Given the description of an element on the screen output the (x, y) to click on. 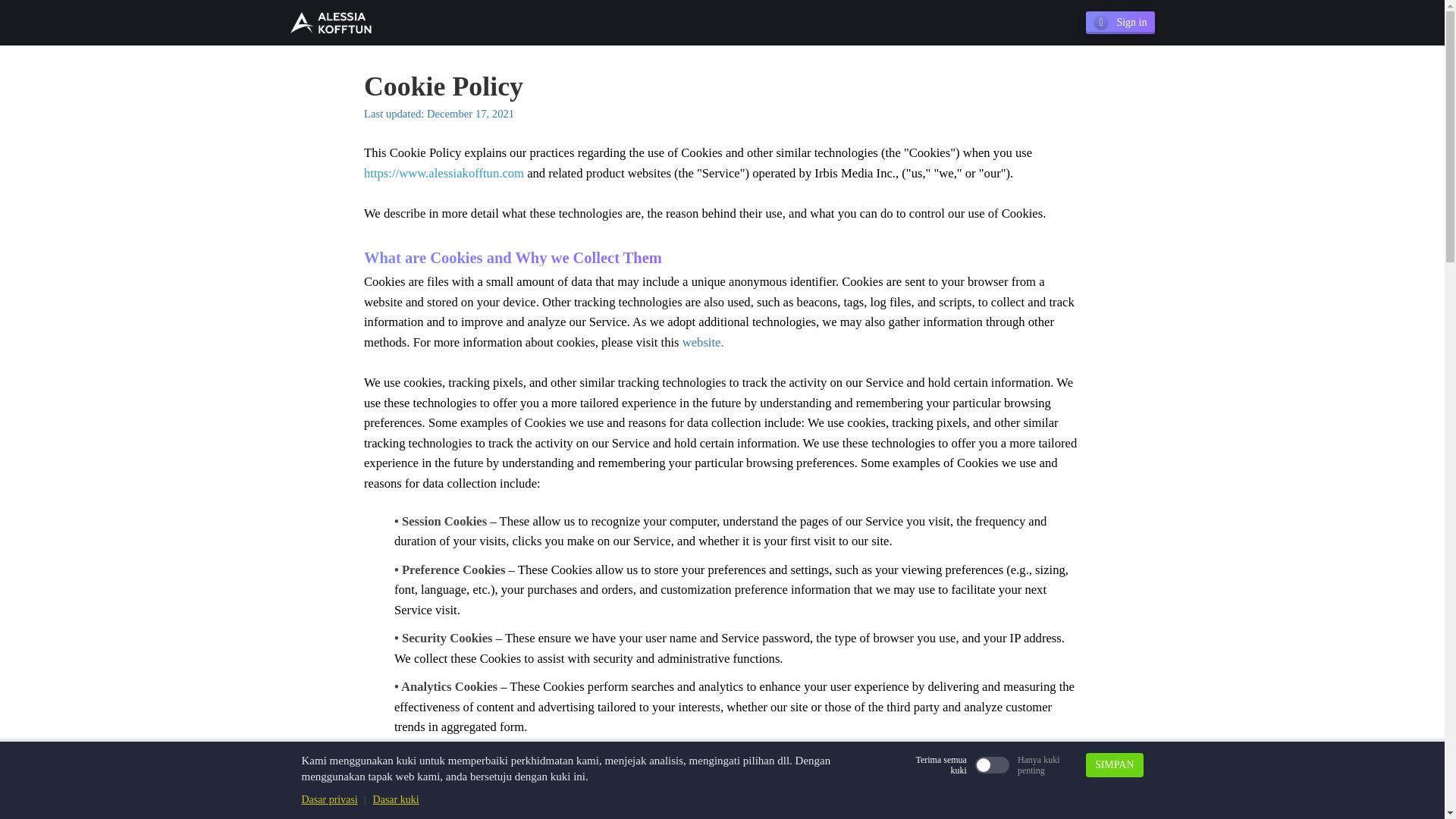
Dasar privasi (329, 799)
SIMPAN (1114, 764)
website. (702, 341)
Last updated: December 17, 2021  (440, 113)
Sign in (1120, 22)
Dasar kuki (395, 799)
